Given the description of an element on the screen output the (x, y) to click on. 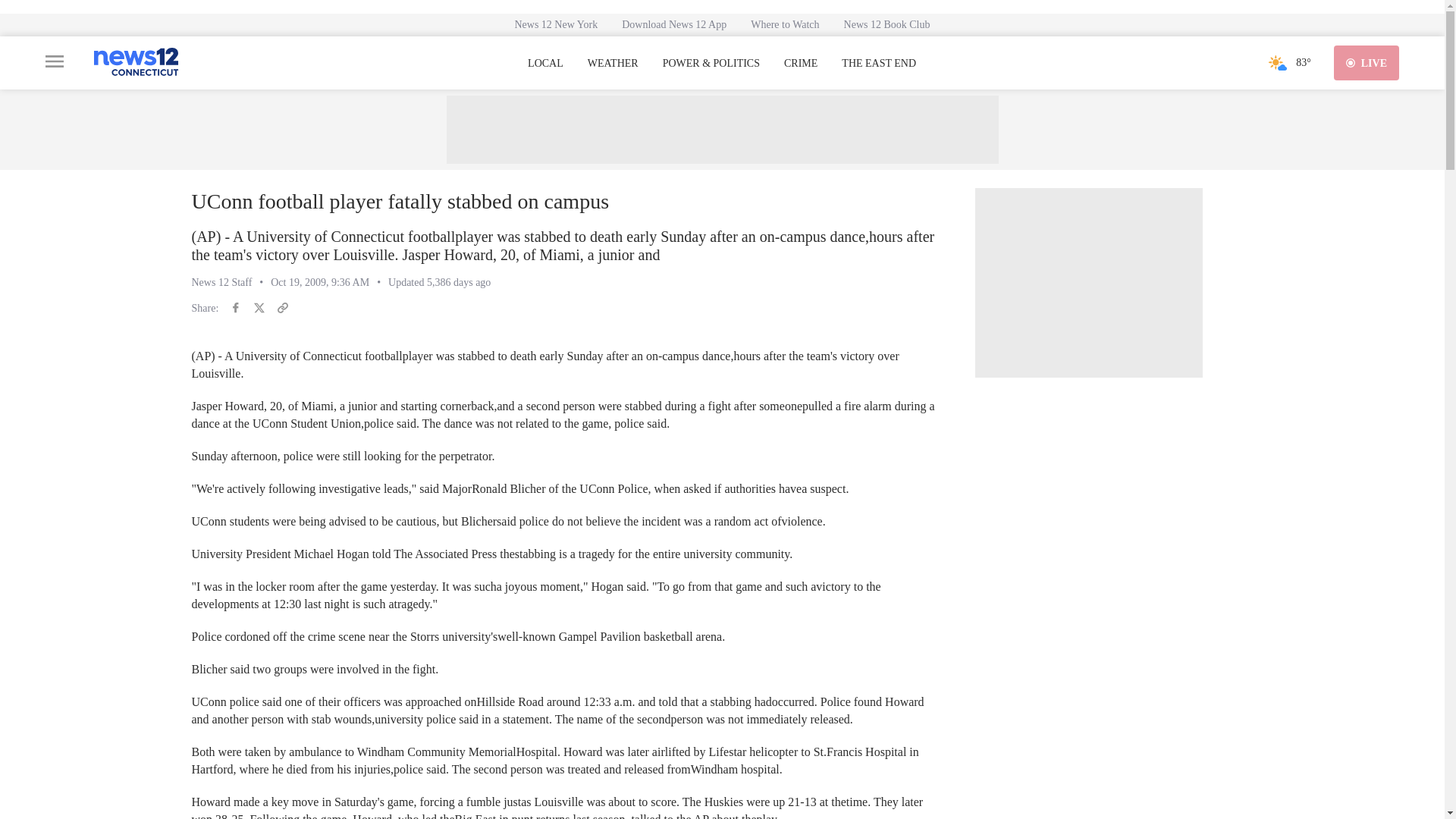
WEATHER (613, 63)
Download News 12 App (673, 24)
Fair or Mostly Sunny (1277, 62)
News 12 Book Club (886, 24)
THE EAST END (878, 63)
LOCAL (545, 63)
Where to Watch (784, 24)
CRIME (800, 63)
News 12 New York (556, 24)
LIVE (1366, 62)
